Given the description of an element on the screen output the (x, y) to click on. 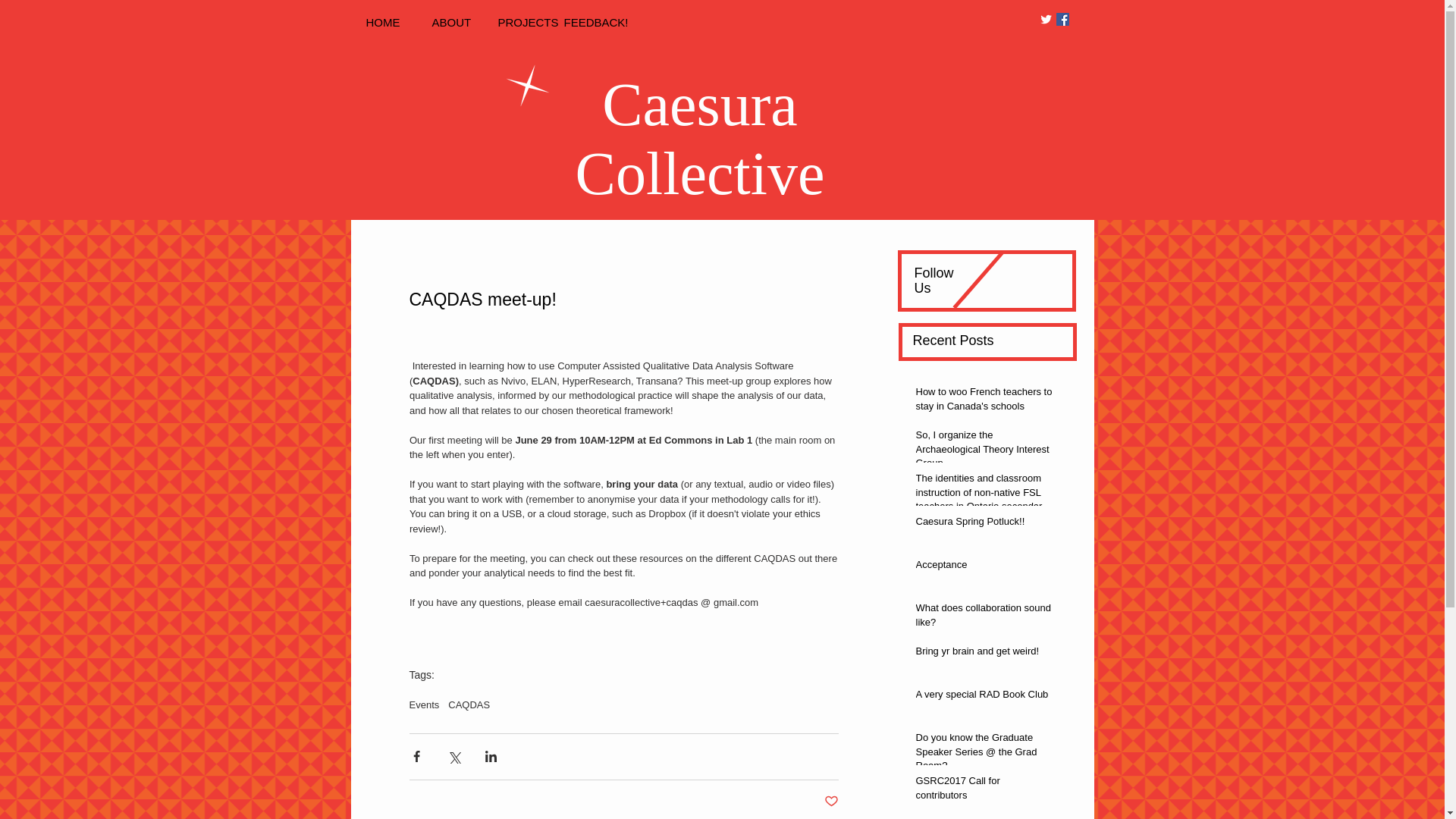
A very special RAD Book Club (984, 697)
FEEDBACK! (589, 22)
Post not marked as liked (831, 801)
GSRC2017 Call for contributors (984, 790)
Acceptance (984, 567)
Bring yr brain and get weird! (984, 654)
PROJECTS (522, 22)
ABOUT (457, 22)
How to woo French teachers to stay in Canada's schools (984, 401)
